Given the description of an element on the screen output the (x, y) to click on. 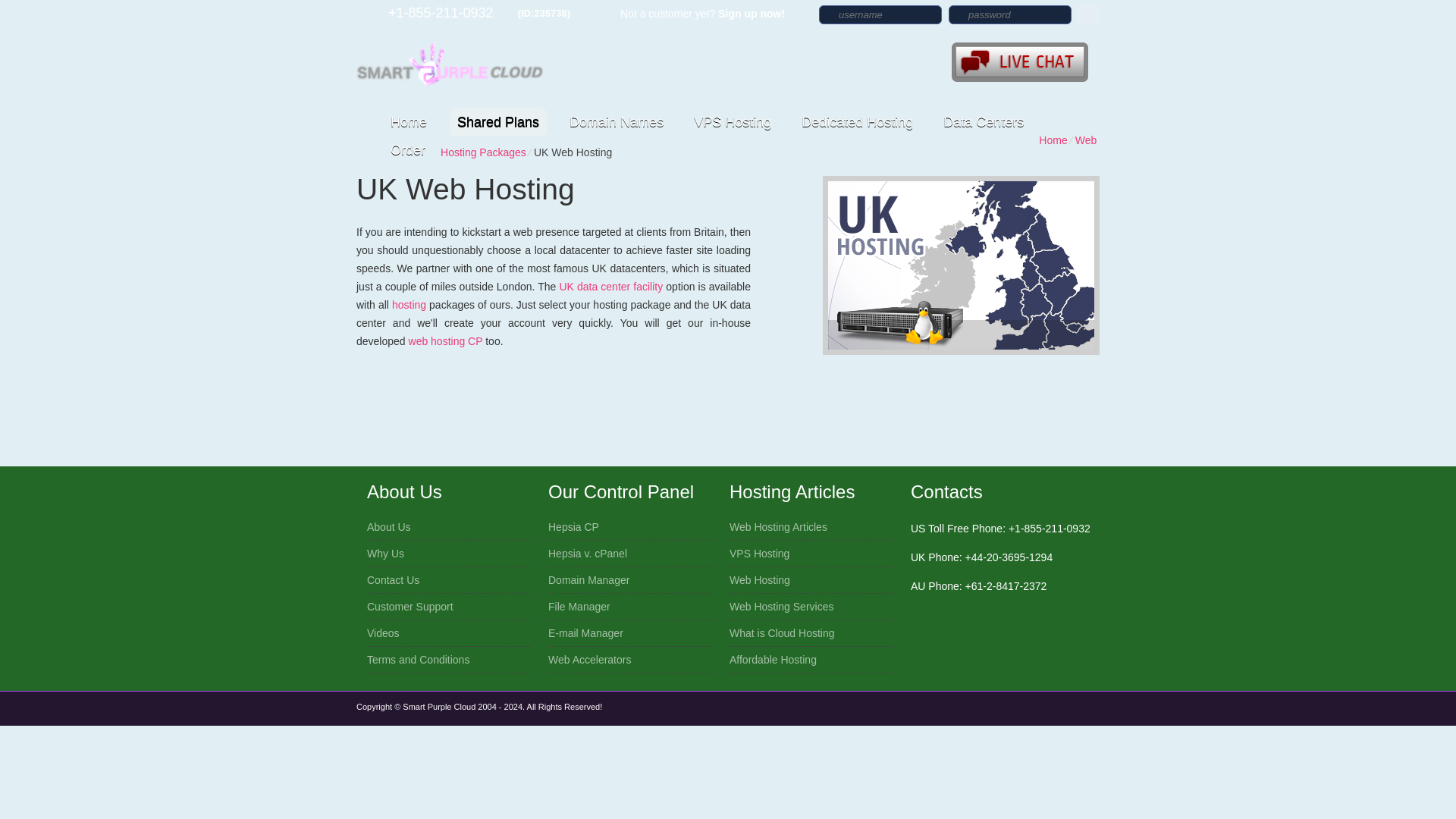
Order (407, 150)
Home (407, 122)
Smart Purple Cloud (451, 64)
Data Centers (983, 122)
UK data center facility (610, 286)
Web Hosting Packages (768, 146)
Dedicated Hosting (856, 122)
Why Us (385, 553)
Domain Names (616, 122)
